Given the description of an element on the screen output the (x, y) to click on. 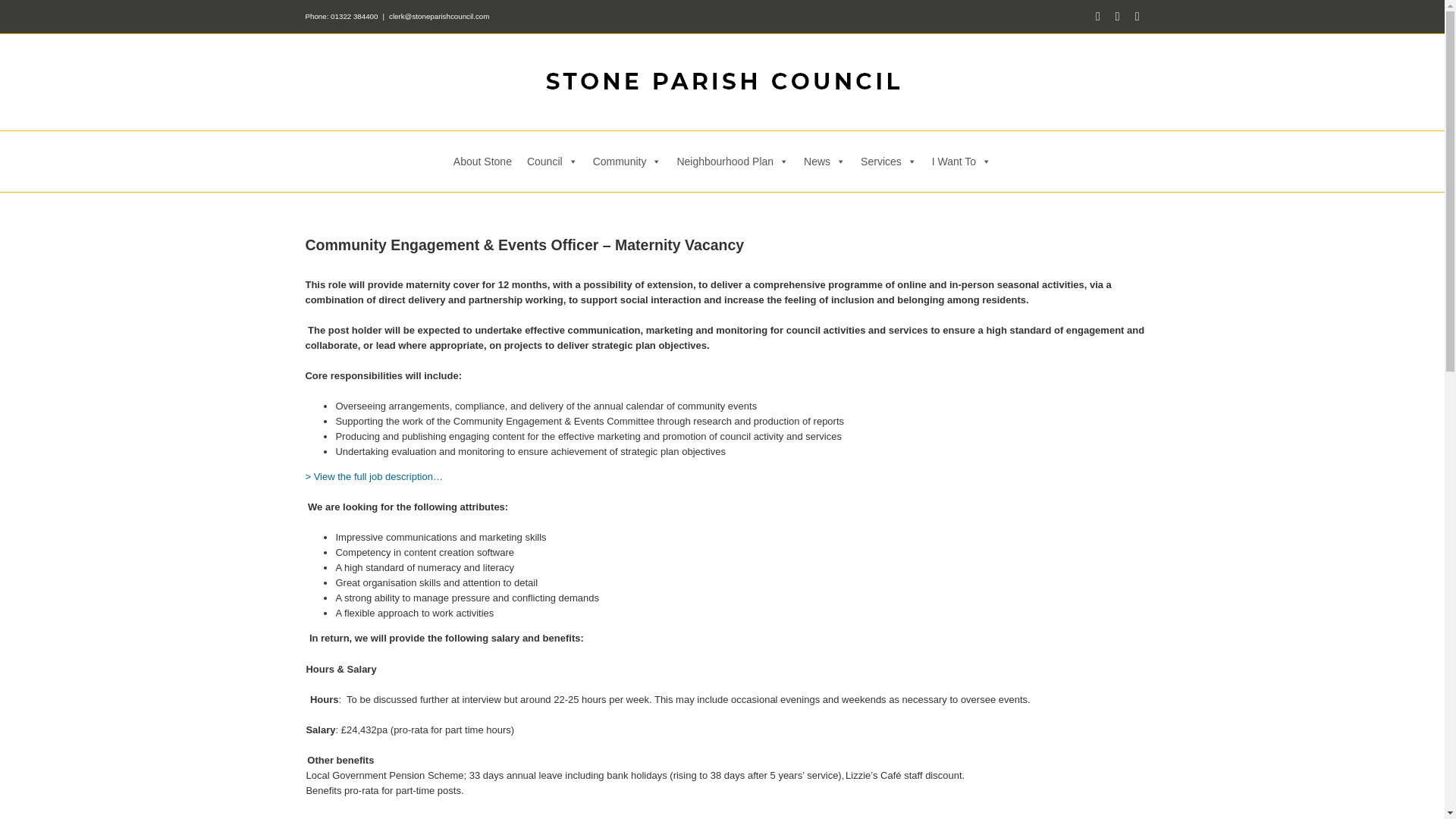
Council (552, 161)
Neighbourhood Plan (732, 161)
Community (627, 161)
News (824, 161)
About Stone (482, 161)
Services (888, 161)
